Given the description of an element on the screen output the (x, y) to click on. 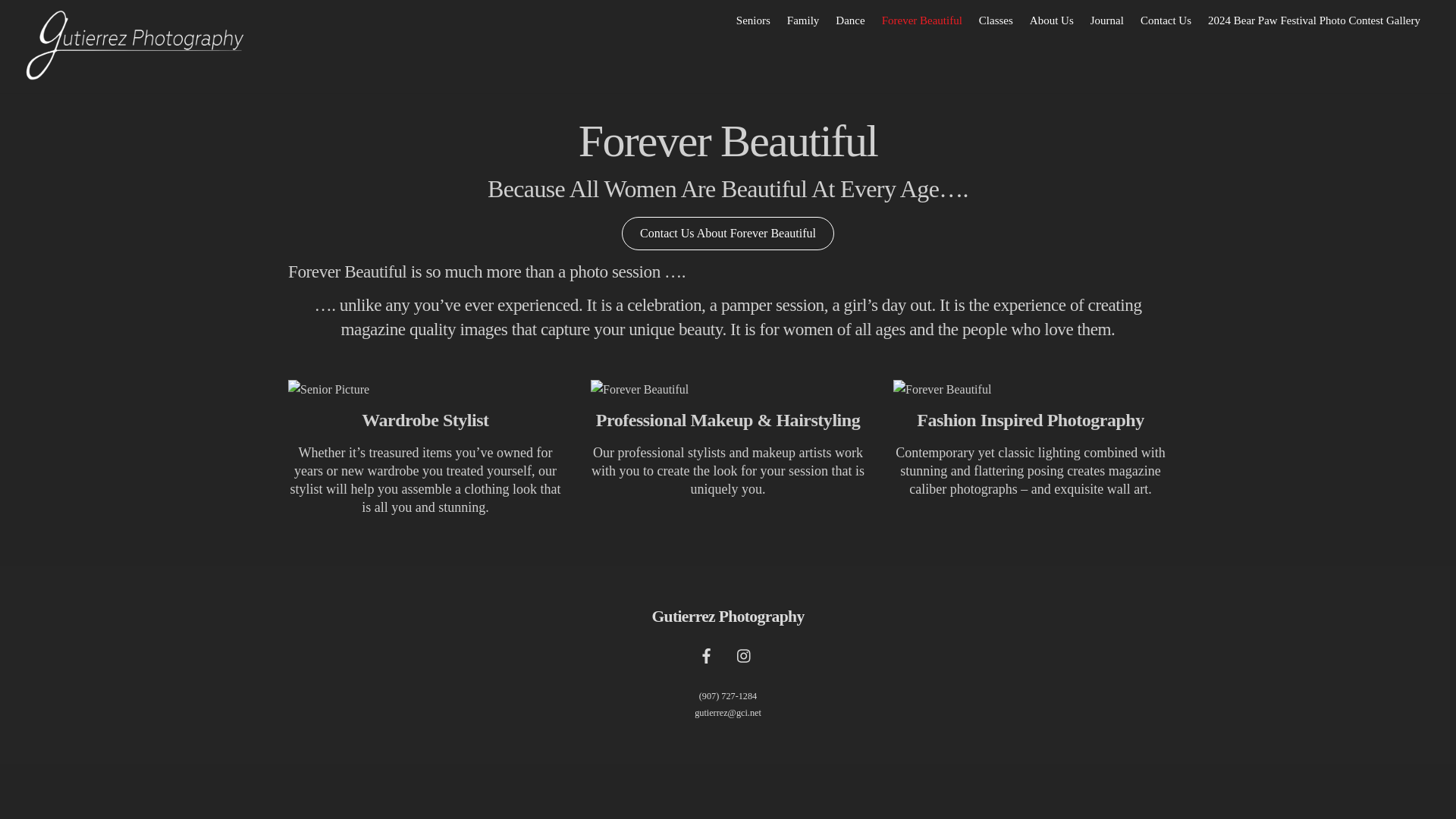
Forever Beautiful (922, 20)
About Us (1051, 20)
Gutierrez Photography (726, 616)
GPLogo-WebPage11Jul17wht (134, 45)
Contact Us (1166, 20)
Dance (849, 20)
Journal (1107, 20)
Forever Beautiful (1030, 389)
2024 Bear Paw Festival Photo Contest Gallery (1313, 20)
